Given the description of an element on the screen output the (x, y) to click on. 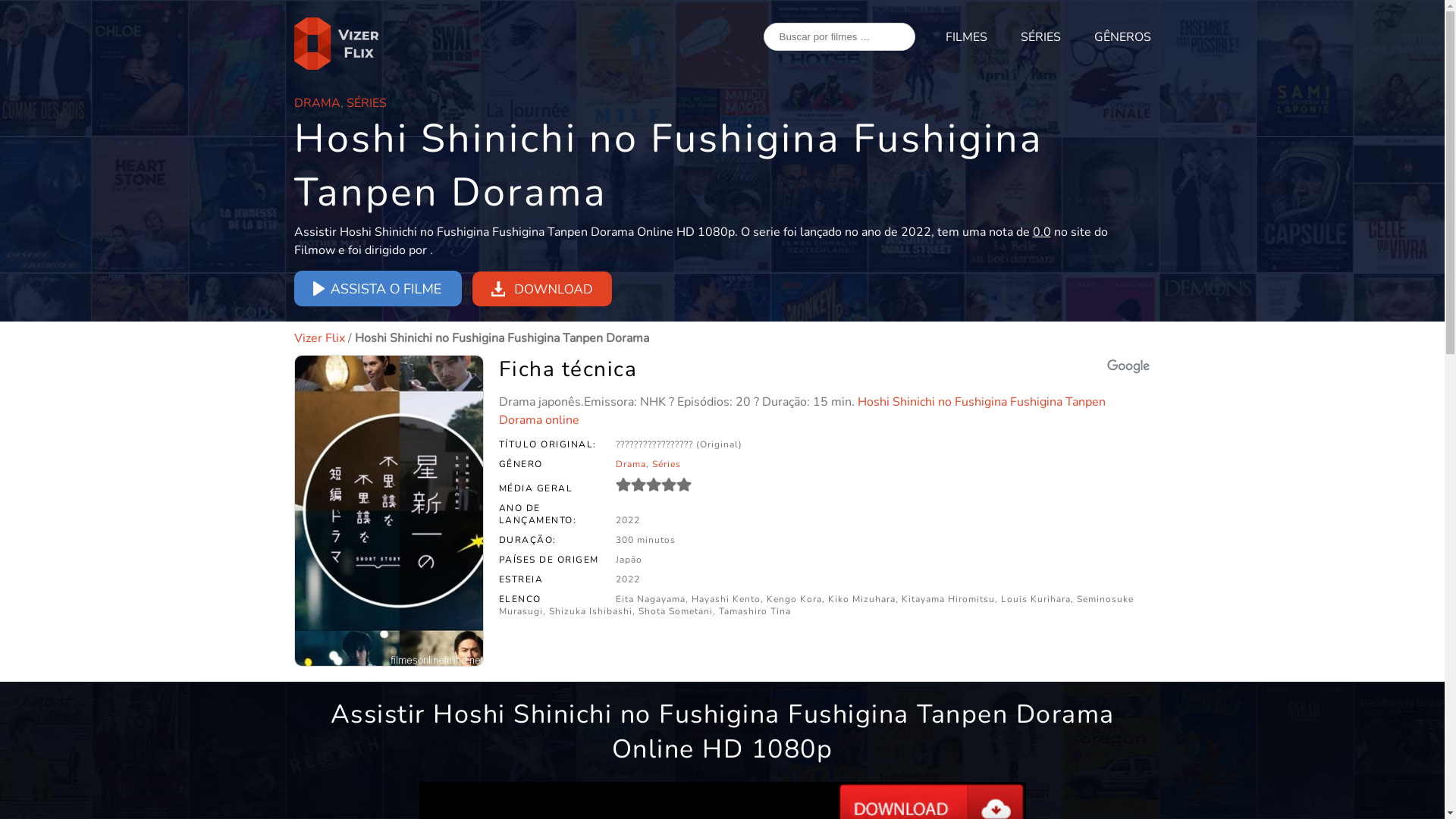
0.0 Element type: hover (653, 484)
filmes online fullhd Element type: hover (338, 43)
Hoshi Shinichi no Fushigina Fushigina Tanpen Dorama online Element type: text (801, 410)
Drama Element type: text (630, 464)
Hoshi Shinichi no Fushigina Fushigina Tanpen Dorama online Element type: hover (388, 510)
Procurar por: Element type: hover (838, 36)
DRAMA Element type: text (317, 102)
FILMES Element type: text (965, 36)
Vizer Flix Element type: text (319, 337)
